Given the description of an element on the screen output the (x, y) to click on. 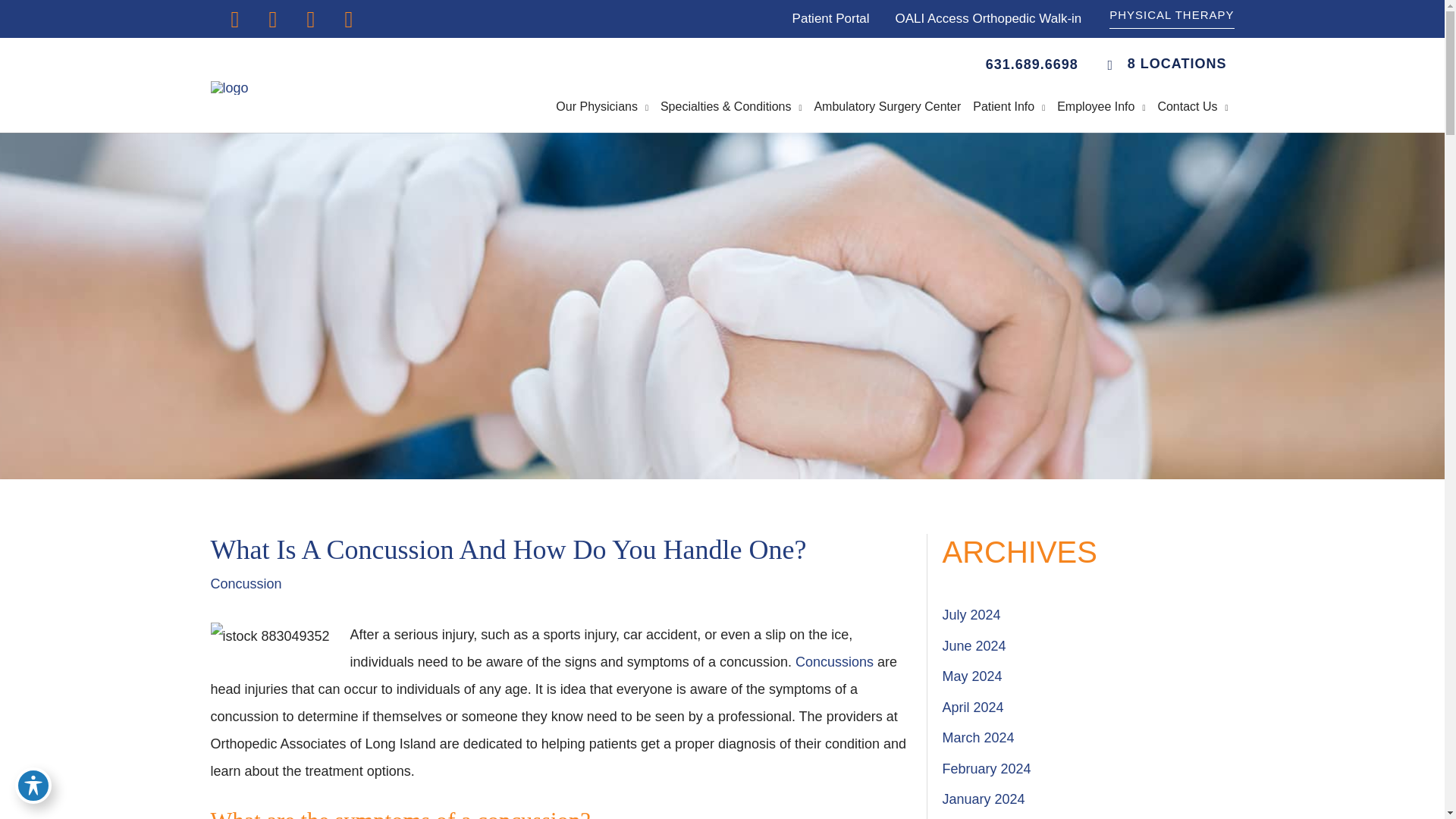
631.689.6698 (1031, 64)
Patient Portal (830, 18)
OALI Access Orthopedic Walk-in (988, 18)
Our Physicians (601, 106)
8 LOCATIONS (1160, 63)
istock 883049352 (270, 634)
PHYSICAL THERAPY (1171, 18)
